Given the description of an element on the screen output the (x, y) to click on. 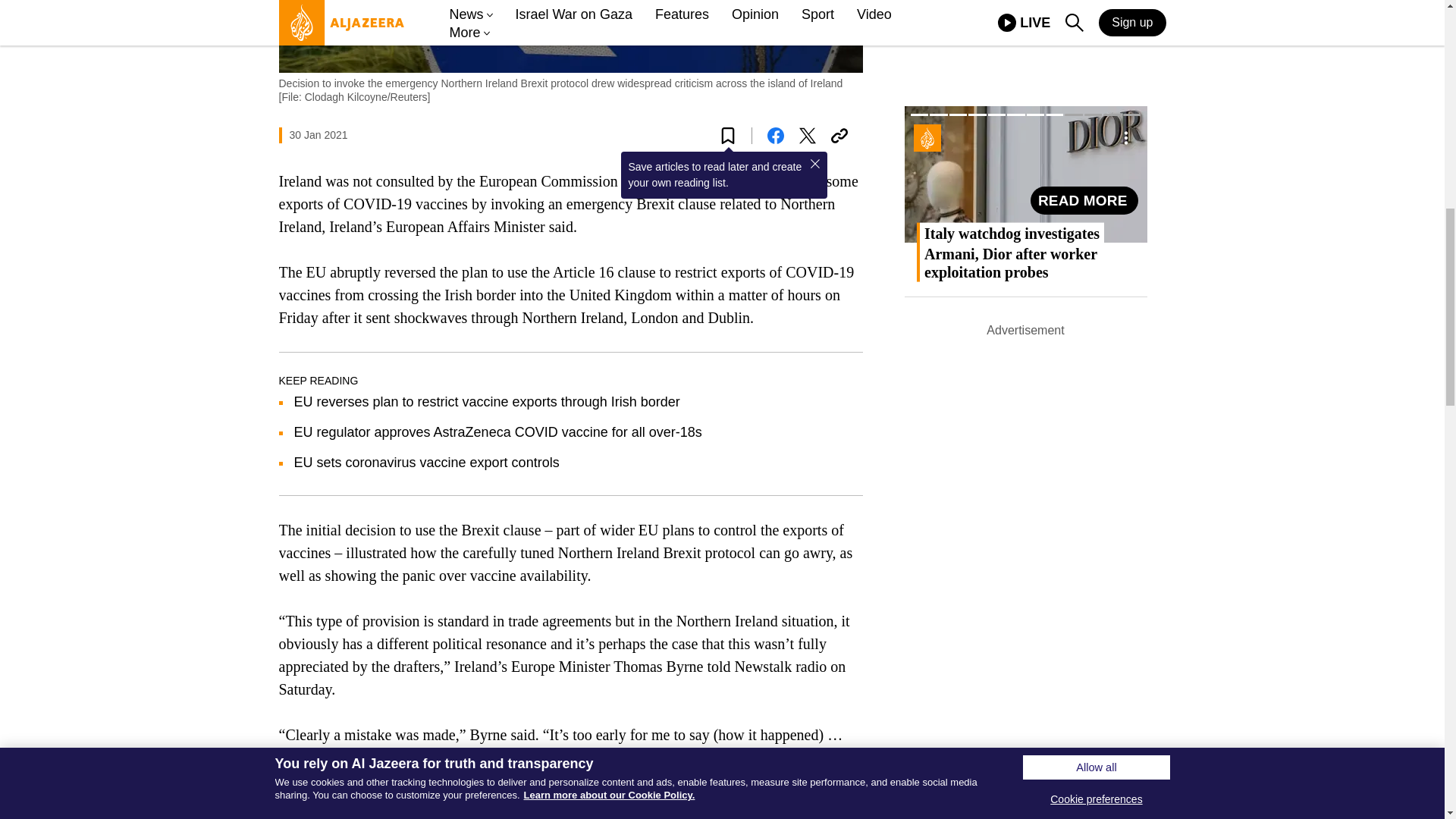
twitter (807, 135)
facebook (775, 135)
copylink (839, 135)
Close Tooltip (814, 163)
copylink (839, 135)
twitter (807, 135)
facebook (775, 135)
